Given the description of an element on the screen output the (x, y) to click on. 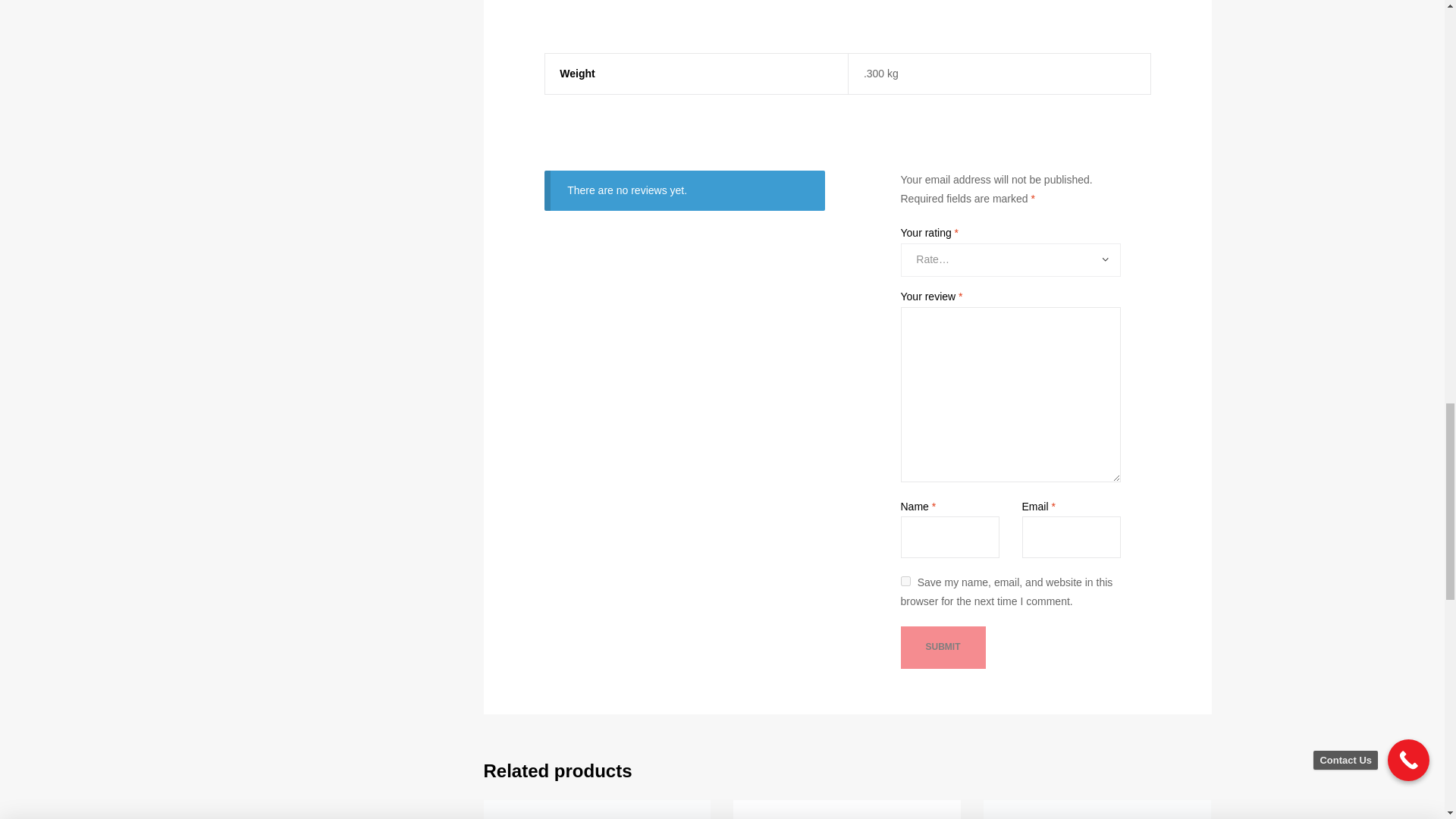
yes (906, 581)
Submit (943, 647)
